Given the description of an element on the screen output the (x, y) to click on. 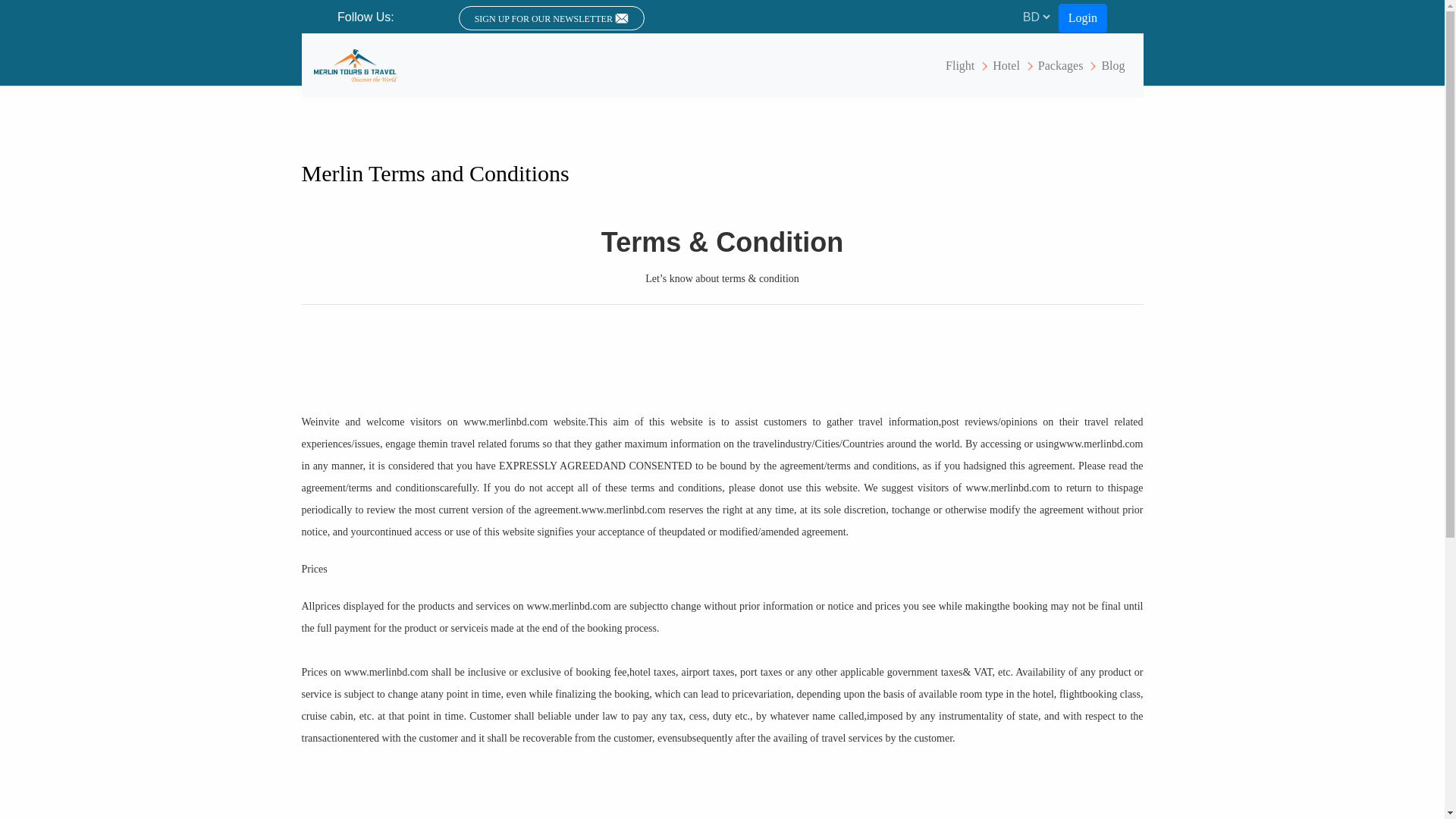
Hotel (1006, 64)
Login (1082, 18)
Flight (959, 64)
Blog (1112, 64)
SIGN UP FOR OUR NEWSLETTER (551, 17)
Packages (1060, 64)
